Given the description of an element on the screen output the (x, y) to click on. 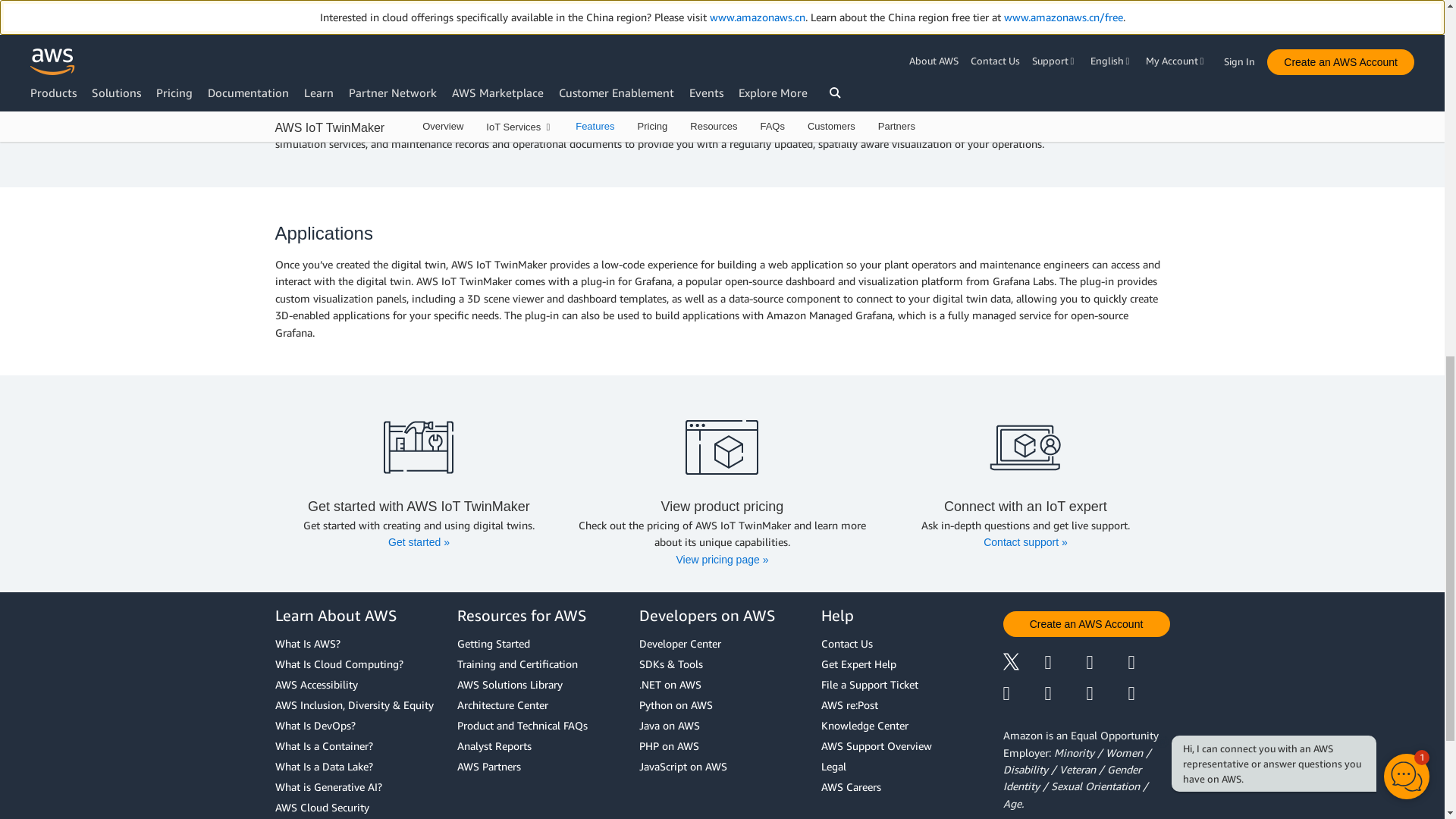
Decide which module is right for you (418, 447)
Connect with an IoT expert (1024, 447)
View AWS IoT ExpressLink features (722, 447)
